Given the description of an element on the screen output the (x, y) to click on. 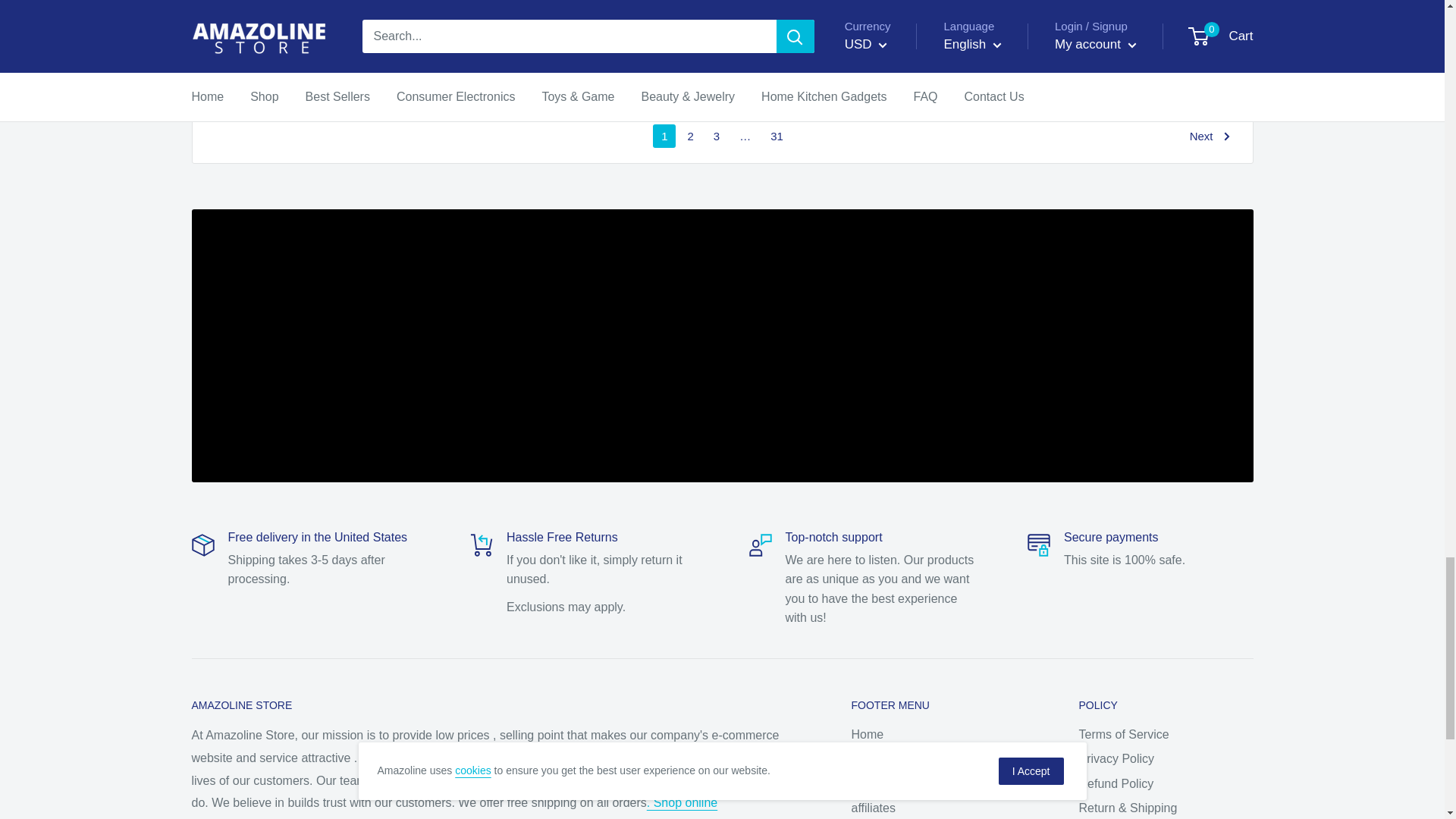
Navigate to page 2 (689, 136)
All collections (681, 802)
Next (1209, 136)
Navigate to page 31 (776, 136)
Navigate to page 3 (716, 136)
